Given the description of an element on the screen output the (x, y) to click on. 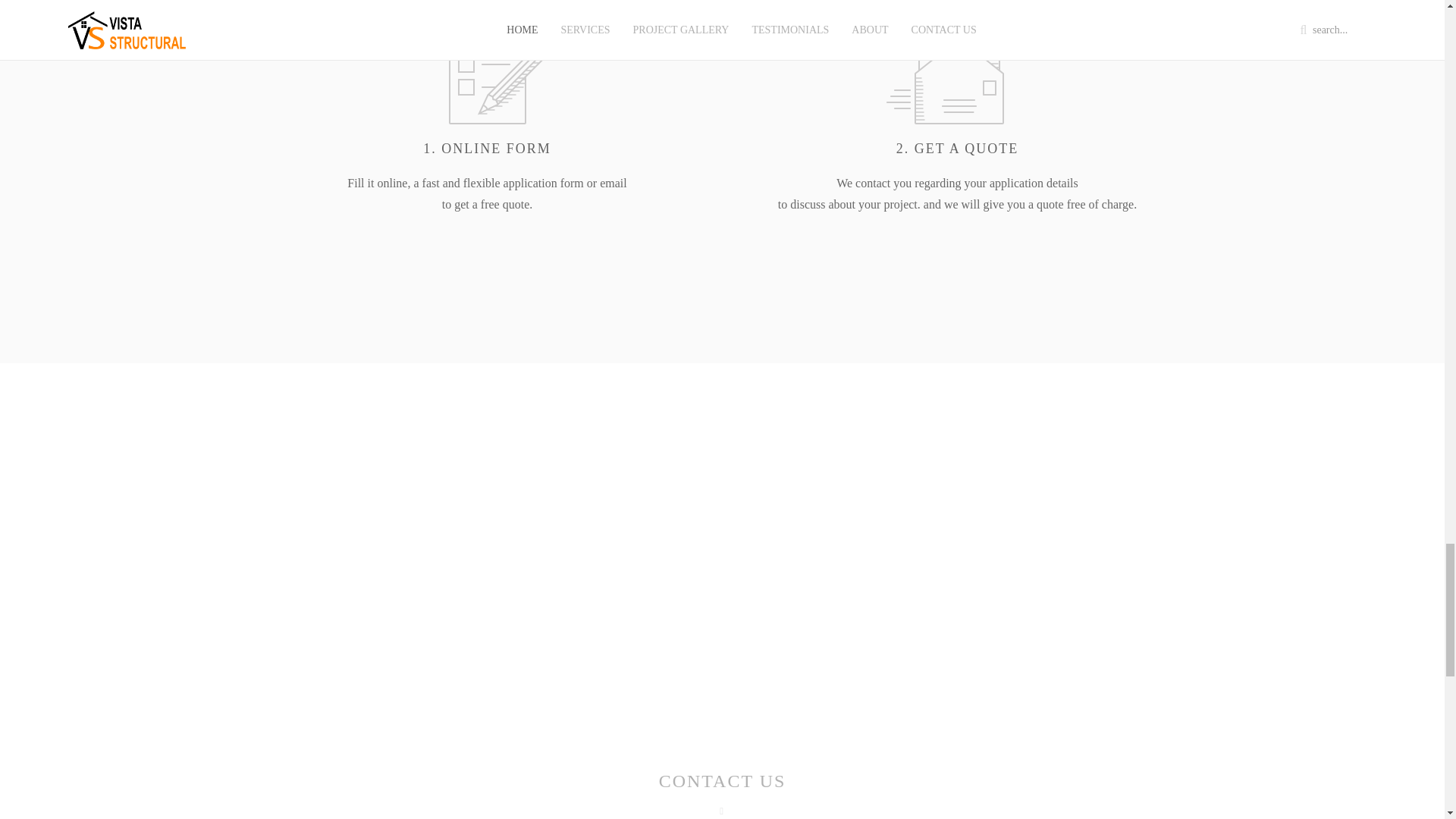
SUBMIT (819, 575)
1. ONLINE FORM (487, 148)
2. GET A QUOTE (957, 148)
